Given the description of an element on the screen output the (x, y) to click on. 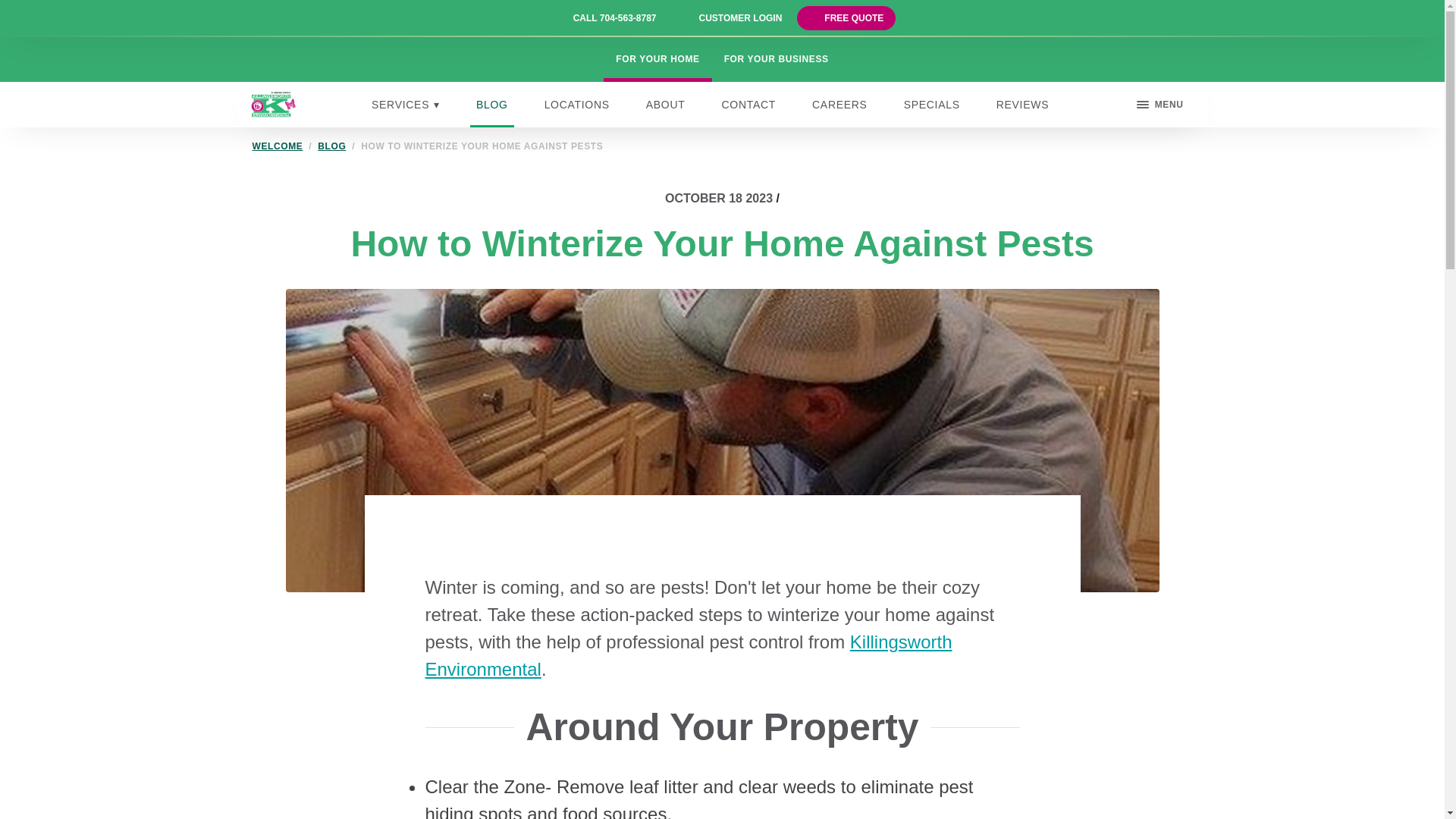
FOR YOUR BUSINESS (776, 58)
CALL 704-563-8787 (614, 17)
BLOG (491, 104)
SPECIALS (932, 104)
FOR YOUR HOME (657, 58)
Blog (331, 146)
REVIEWS (1022, 104)
MENU (1160, 104)
CAREERS (839, 104)
LOCATIONS (576, 104)
Welcome (276, 146)
SERVICES (405, 104)
ABOUT (665, 104)
FREE QUOTE (853, 17)
